Given the description of an element on the screen output the (x, y) to click on. 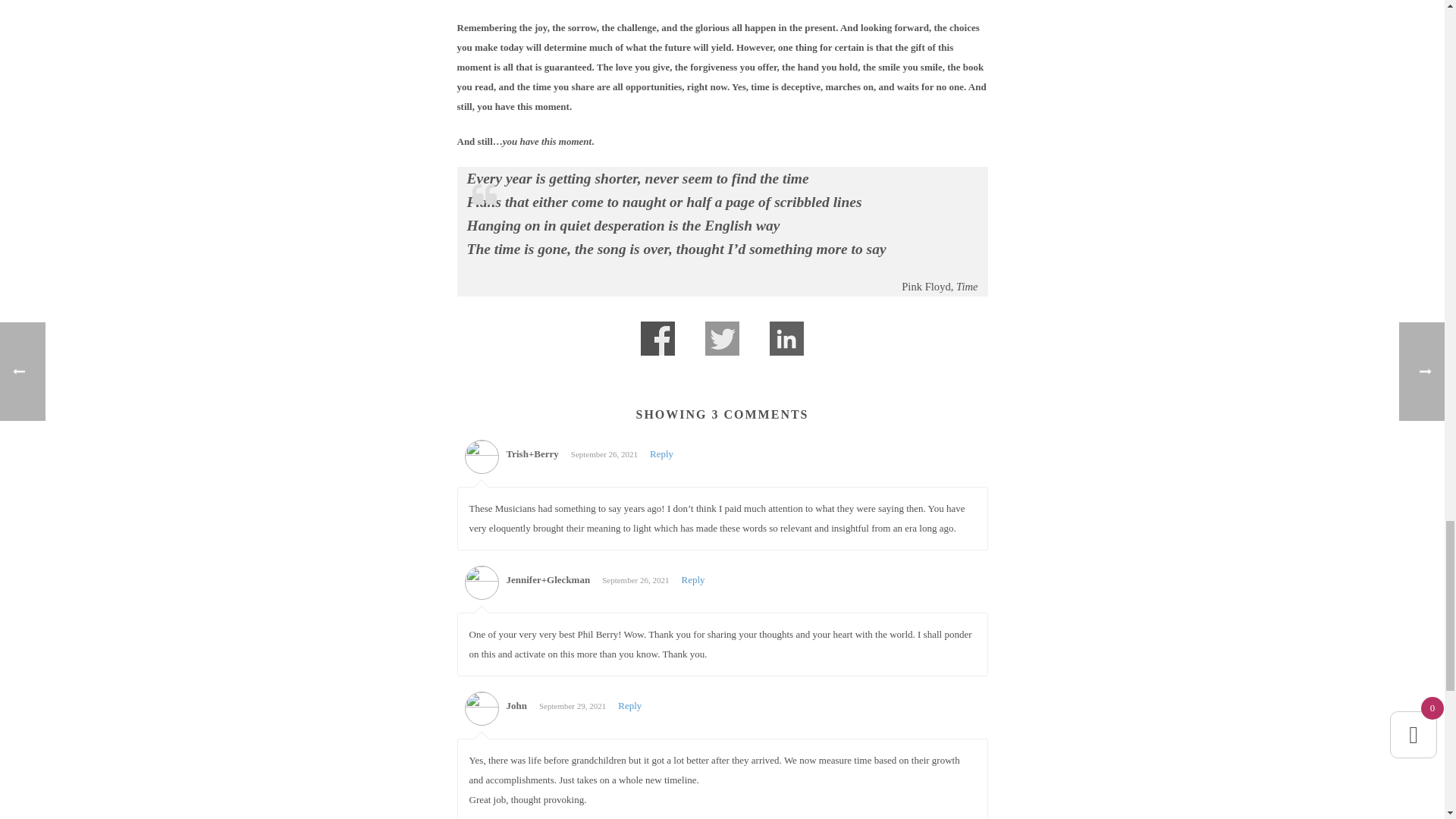
Share on Facebook (657, 338)
Reply (660, 453)
Reply (629, 705)
Reply (692, 579)
Share on Twitter (721, 338)
Share on Linkedin (786, 338)
